Given the description of an element on the screen output the (x, y) to click on. 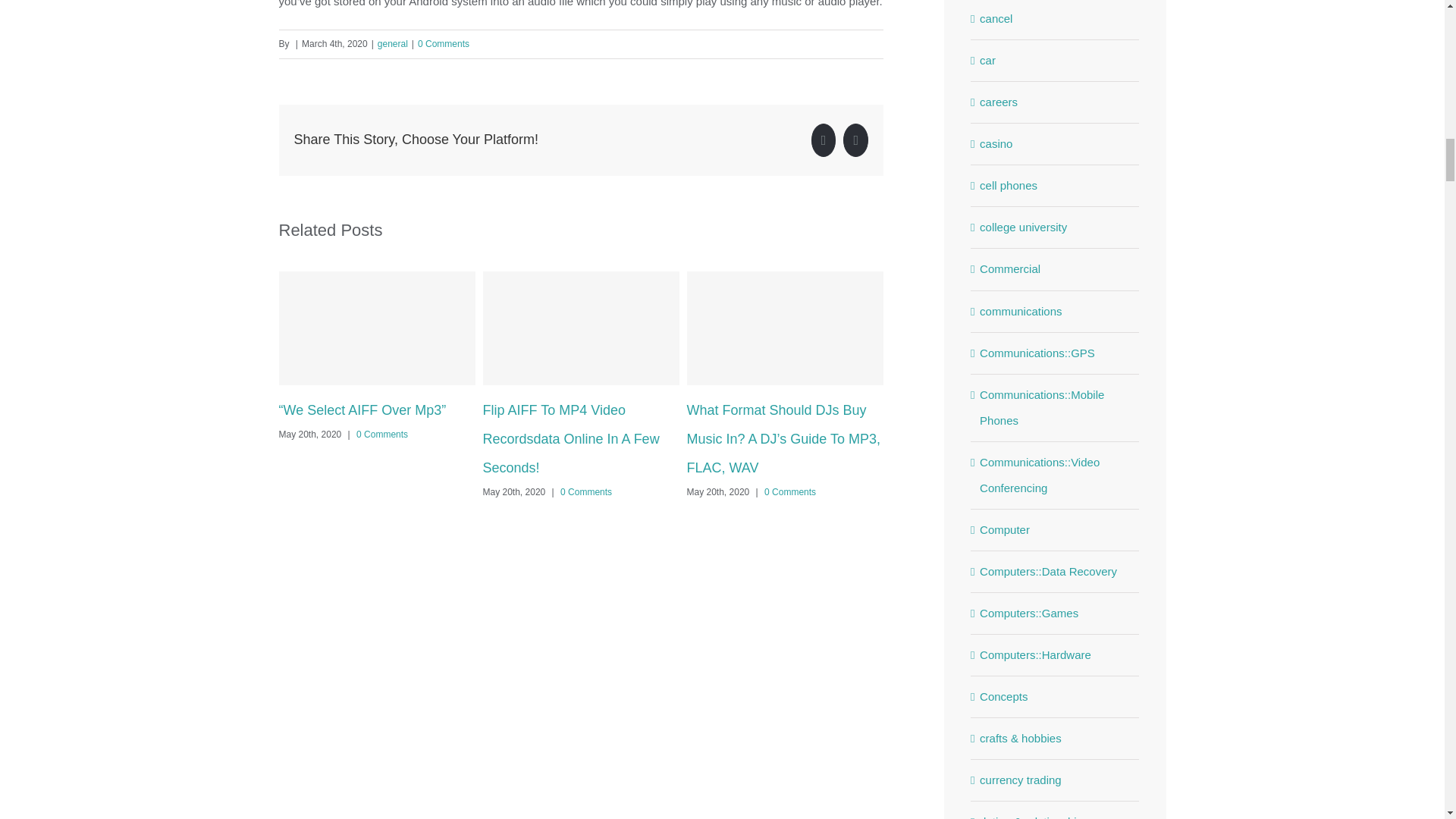
0 Comments (442, 43)
Flip AIFF To MP4 Video Recordsdata Online In A Few Seconds! (570, 438)
Flip AIFF To MP4 Video Recordsdata Online In A Few Seconds! (570, 438)
0 Comments (381, 434)
0 Comments (789, 491)
general (392, 43)
0 Comments (585, 491)
